Given the description of an element on the screen output the (x, y) to click on. 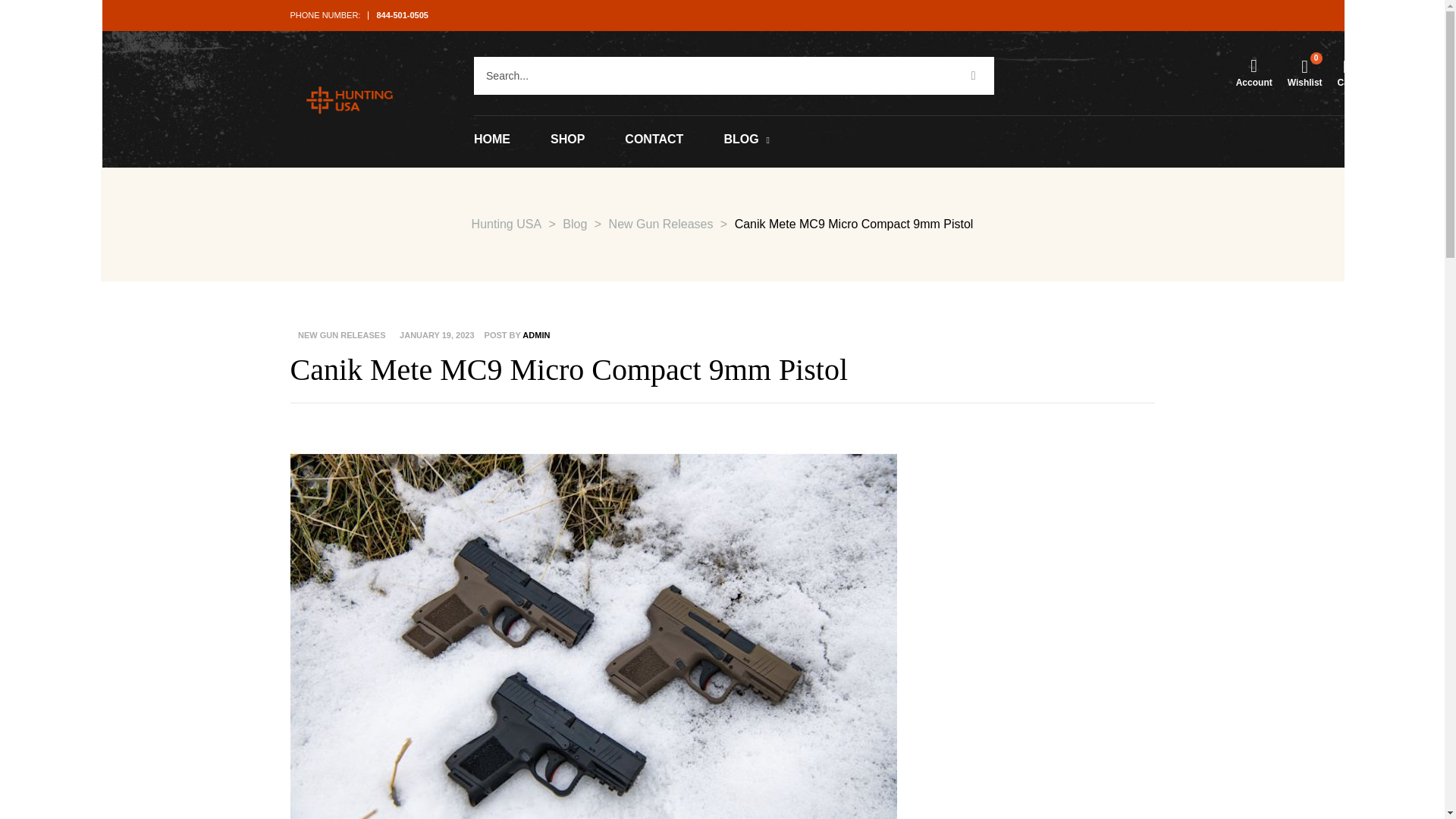
CONTACT (653, 139)
HOME (492, 139)
Go to Blog. (574, 224)
Go to the New Gun Releases category archives. (660, 224)
NEW GUN RELEASES (340, 335)
844-501-0505 (401, 15)
ADMIN (536, 334)
Hunting USA (506, 224)
JANUARY 19, 2023 (436, 334)
SHOP (567, 139)
Search (713, 75)
BLOG (746, 139)
Blog (574, 224)
Go to Hunting USA. (506, 224)
New Gun Releases (660, 224)
